Given the description of an element on the screen output the (x, y) to click on. 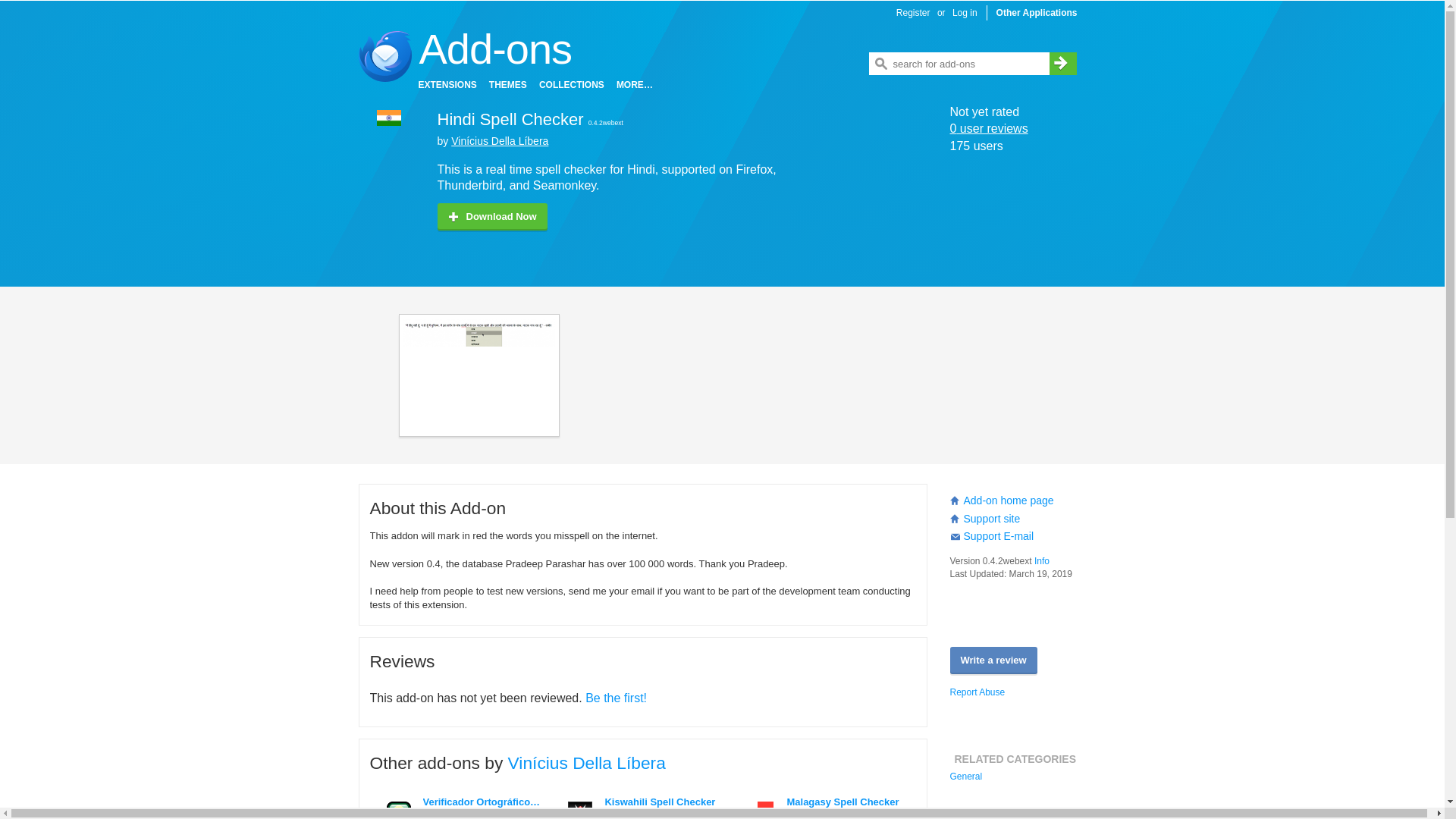
EXTENSIONS (447, 86)
Add-ons (495, 48)
Info (1041, 561)
Find add-ons for other applications (1036, 12)
Other Applications (1036, 12)
Register (912, 12)
Return to the Thunderbird Add-ons homepage (495, 48)
Search (1063, 63)
THEMES (507, 86)
0 user reviews (988, 128)
Log in (967, 12)
